Given the description of an element on the screen output the (x, y) to click on. 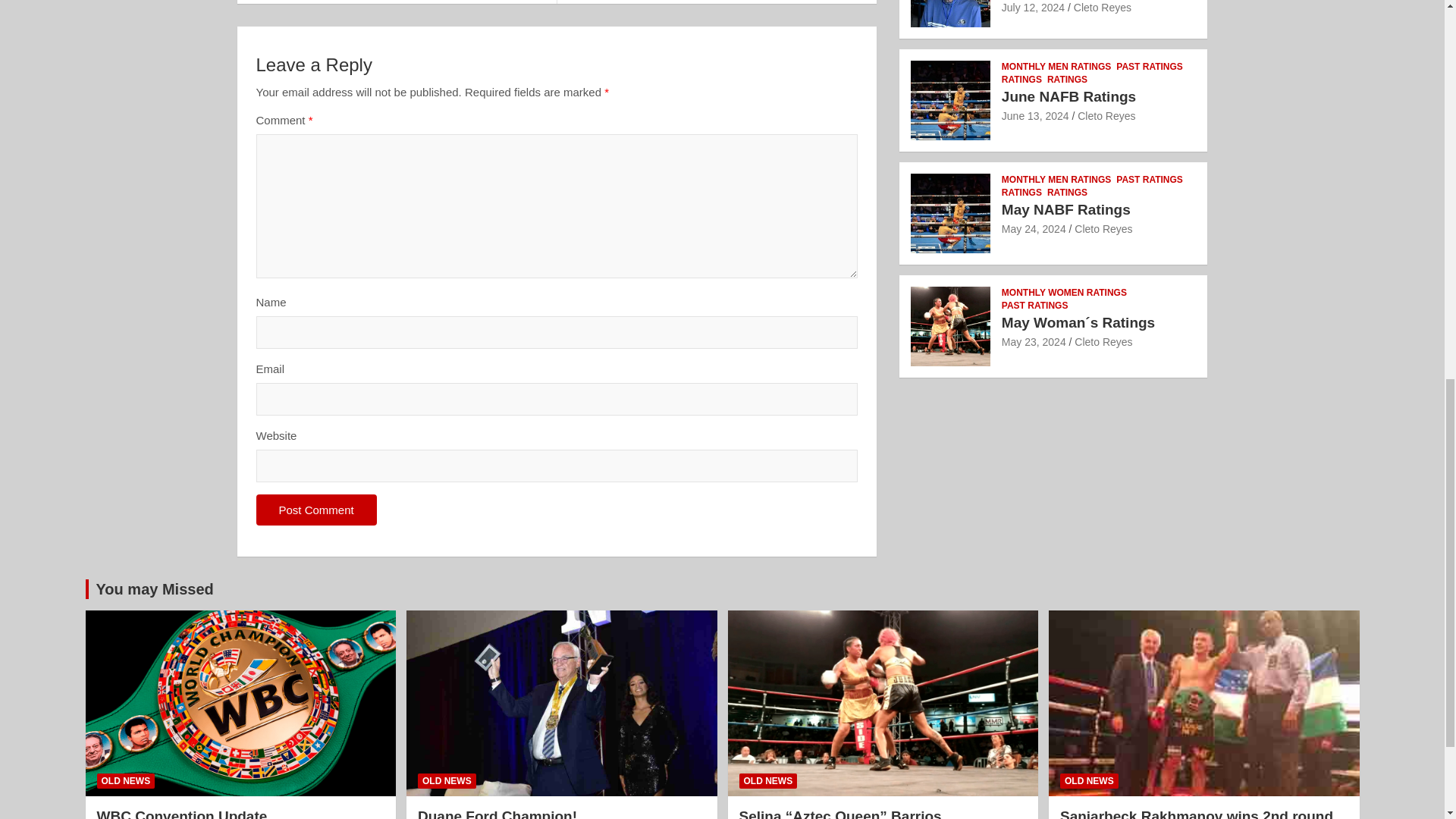
NABF Grieves the Passing of Josef Mason (1032, 7)
Post Comment (316, 509)
May NABF Ratings (1033, 228)
June NAFB Ratings (1034, 115)
